Given the description of an element on the screen output the (x, y) to click on. 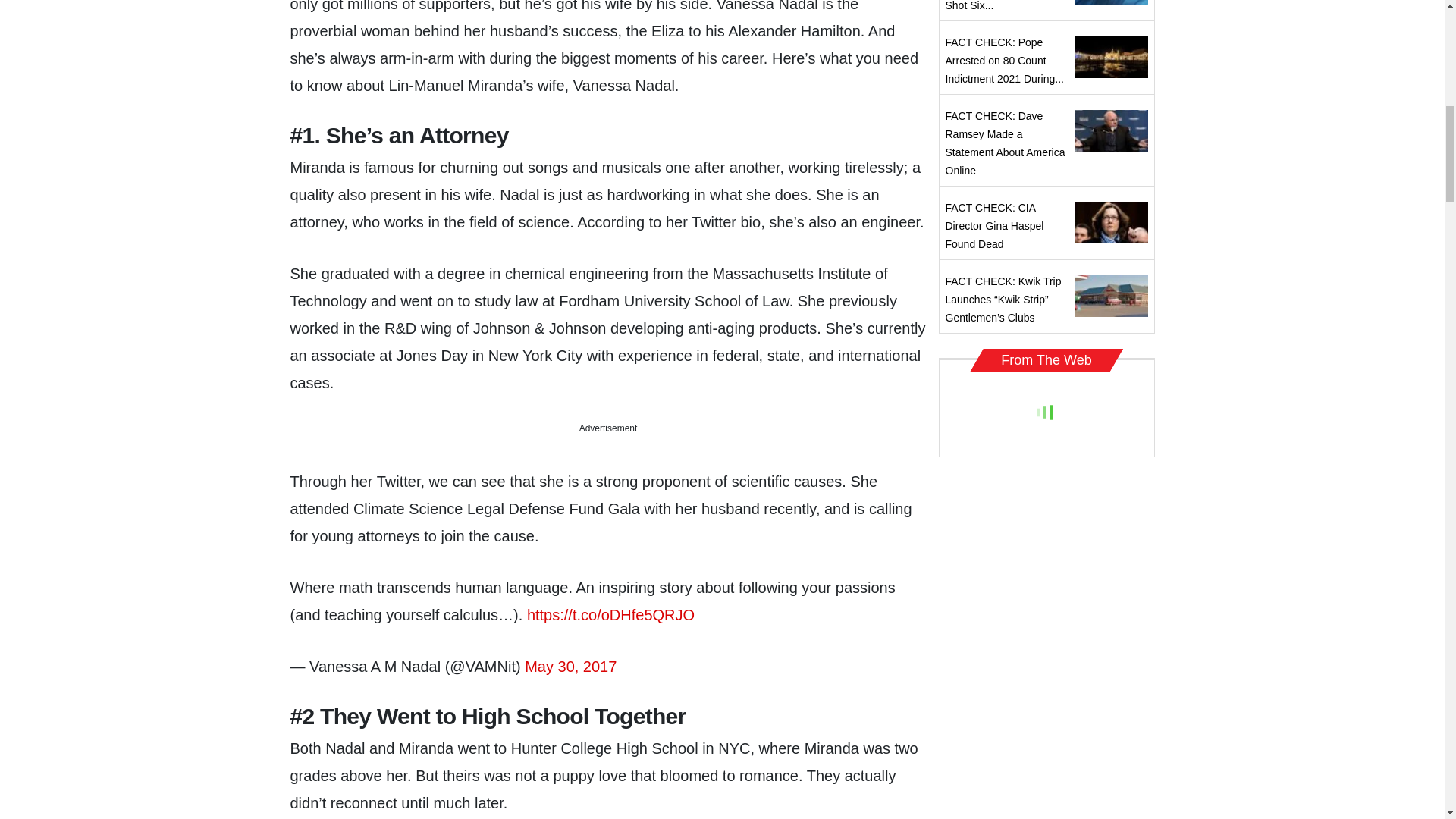
May 30, 2017 (569, 666)
